Given the description of an element on the screen output the (x, y) to click on. 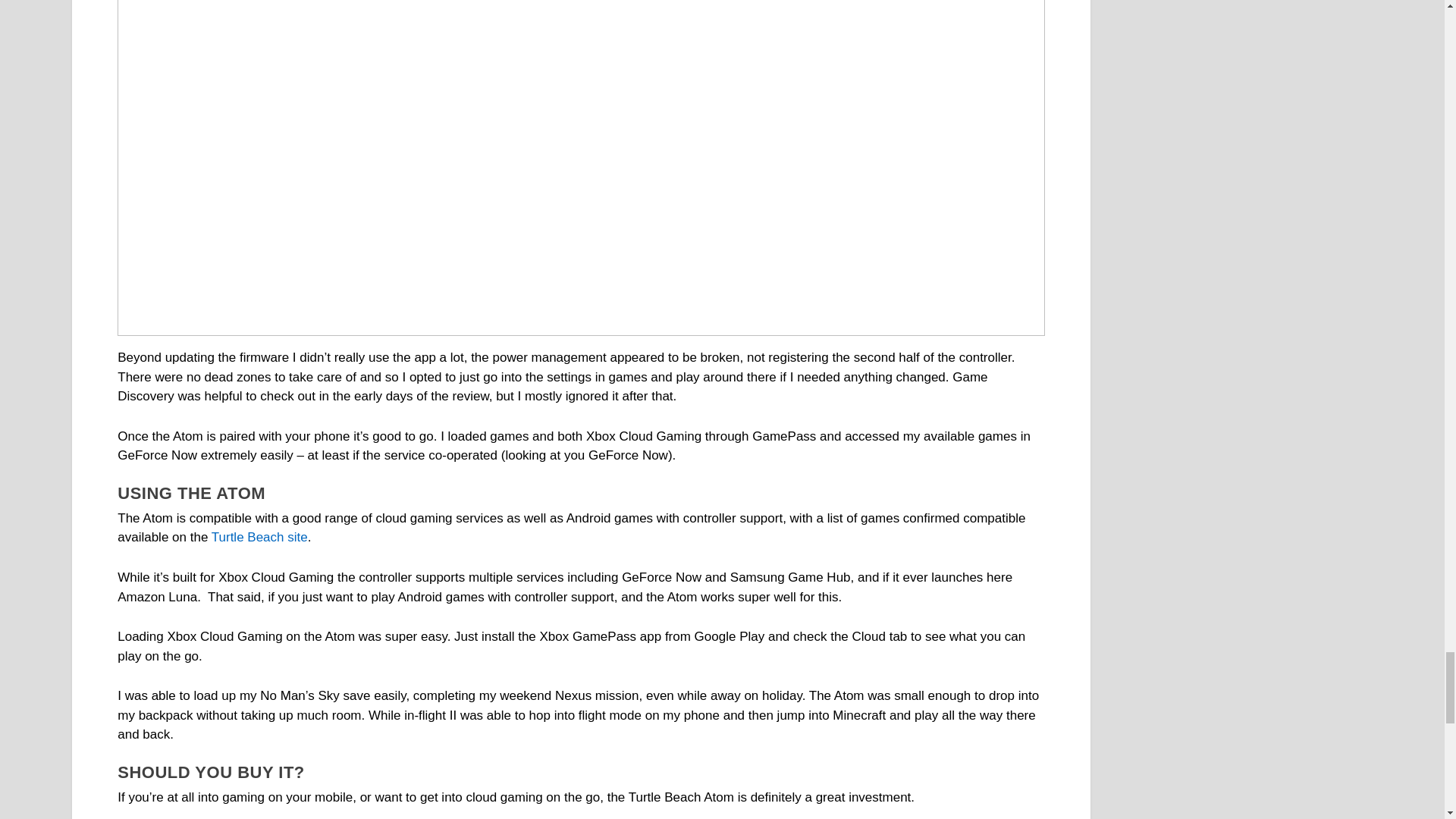
Turtle Beach site (259, 536)
